Given the description of an element on the screen output the (x, y) to click on. 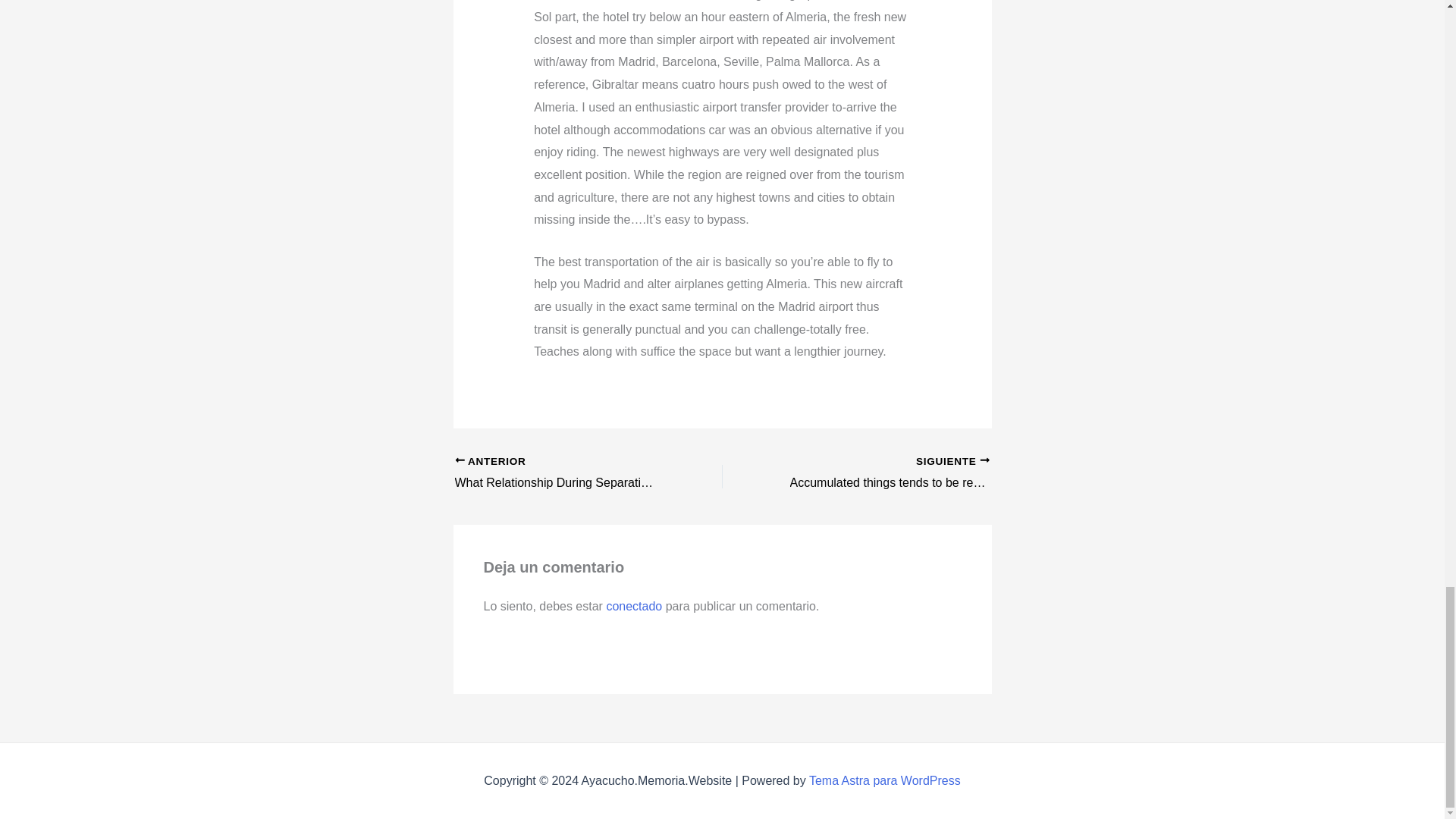
conectado (633, 605)
